Given the description of an element on the screen output the (x, y) to click on. 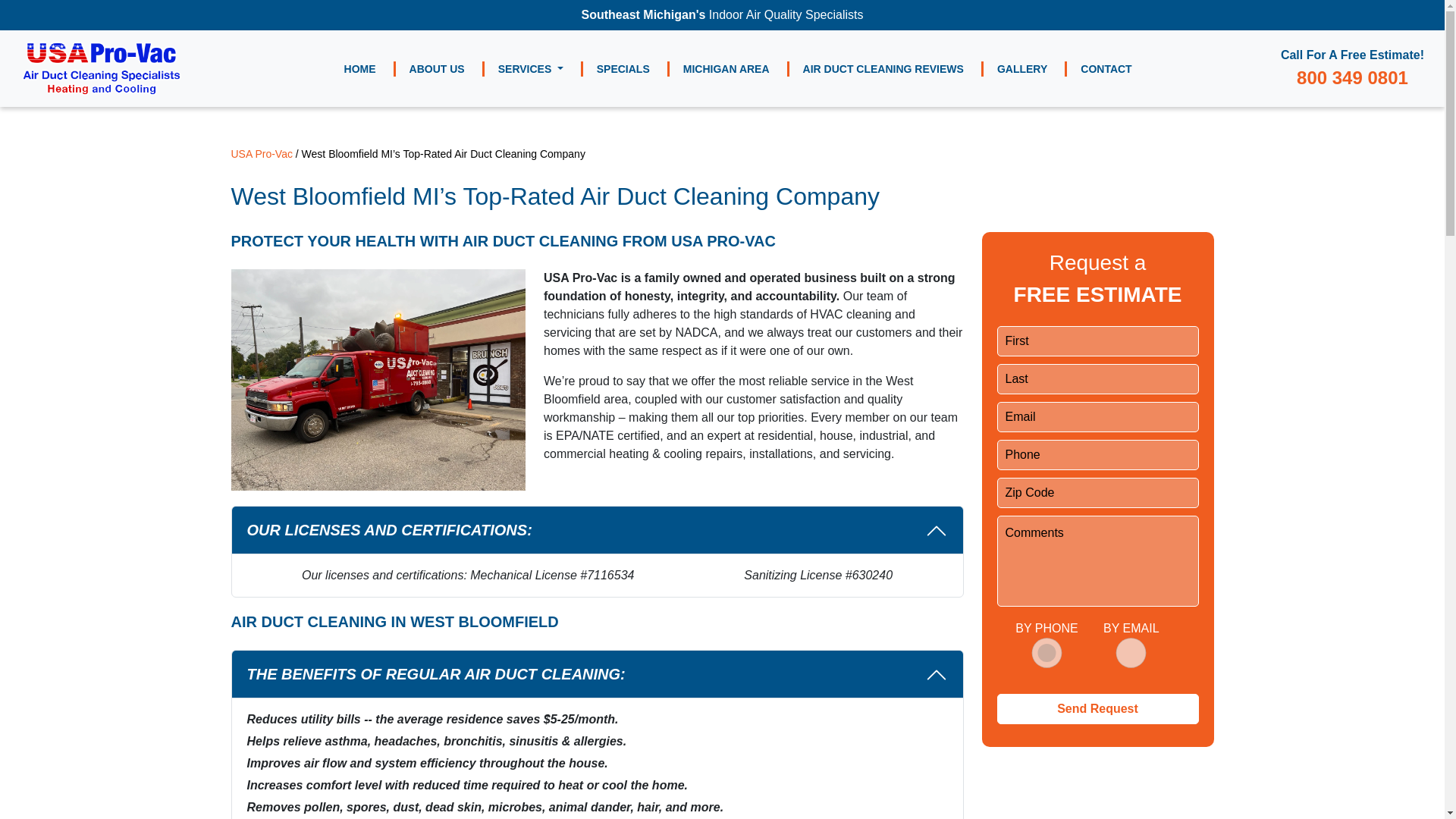
THE BENEFITS OF REGULAR AIR DUCT CLEANING: (596, 674)
By email (1130, 653)
About Us (436, 68)
HOME (359, 68)
Send Request (1096, 708)
Home (359, 68)
ABOUT US (436, 68)
By phone (1046, 653)
800 349 0801 (1352, 76)
Send Request (1096, 708)
